Given the description of an element on the screen output the (x, y) to click on. 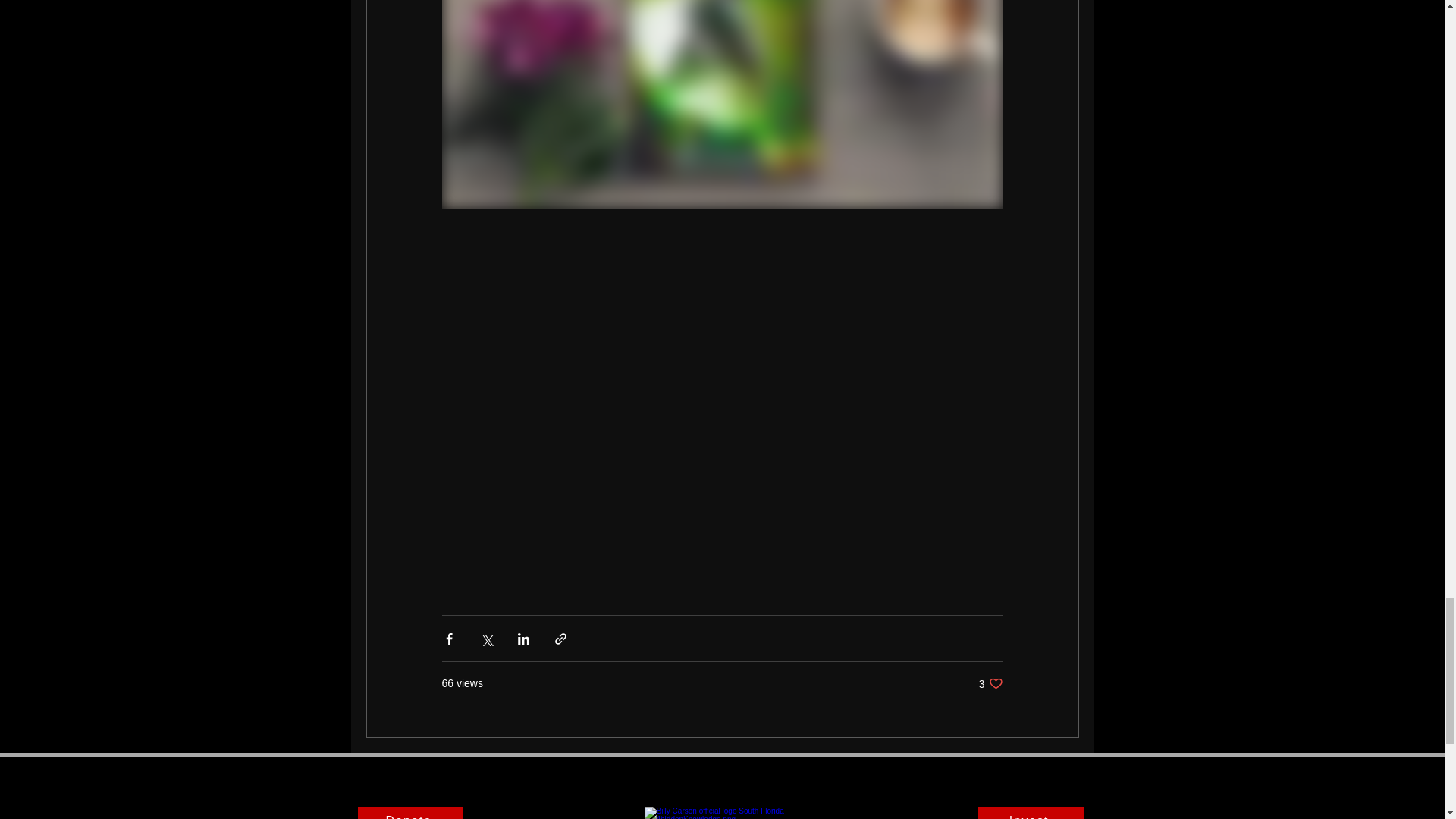
4BiddenKnowledge (722, 812)
